Given the description of an element on the screen output the (x, y) to click on. 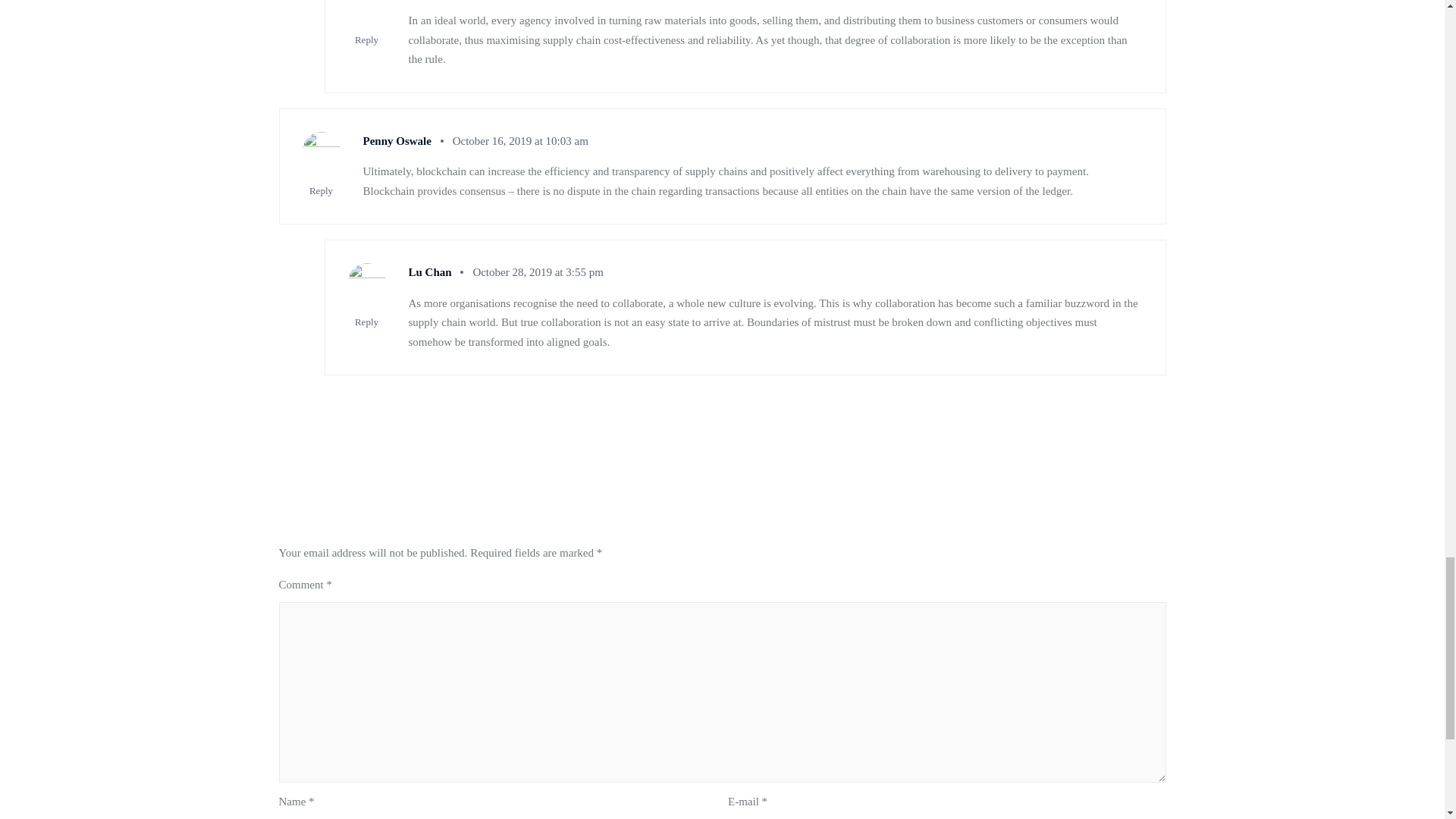
October 28, 2019 at 3:55 pm (536, 272)
October 16, 2019 at 10:03 am (520, 141)
